Given the description of an element on the screen output the (x, y) to click on. 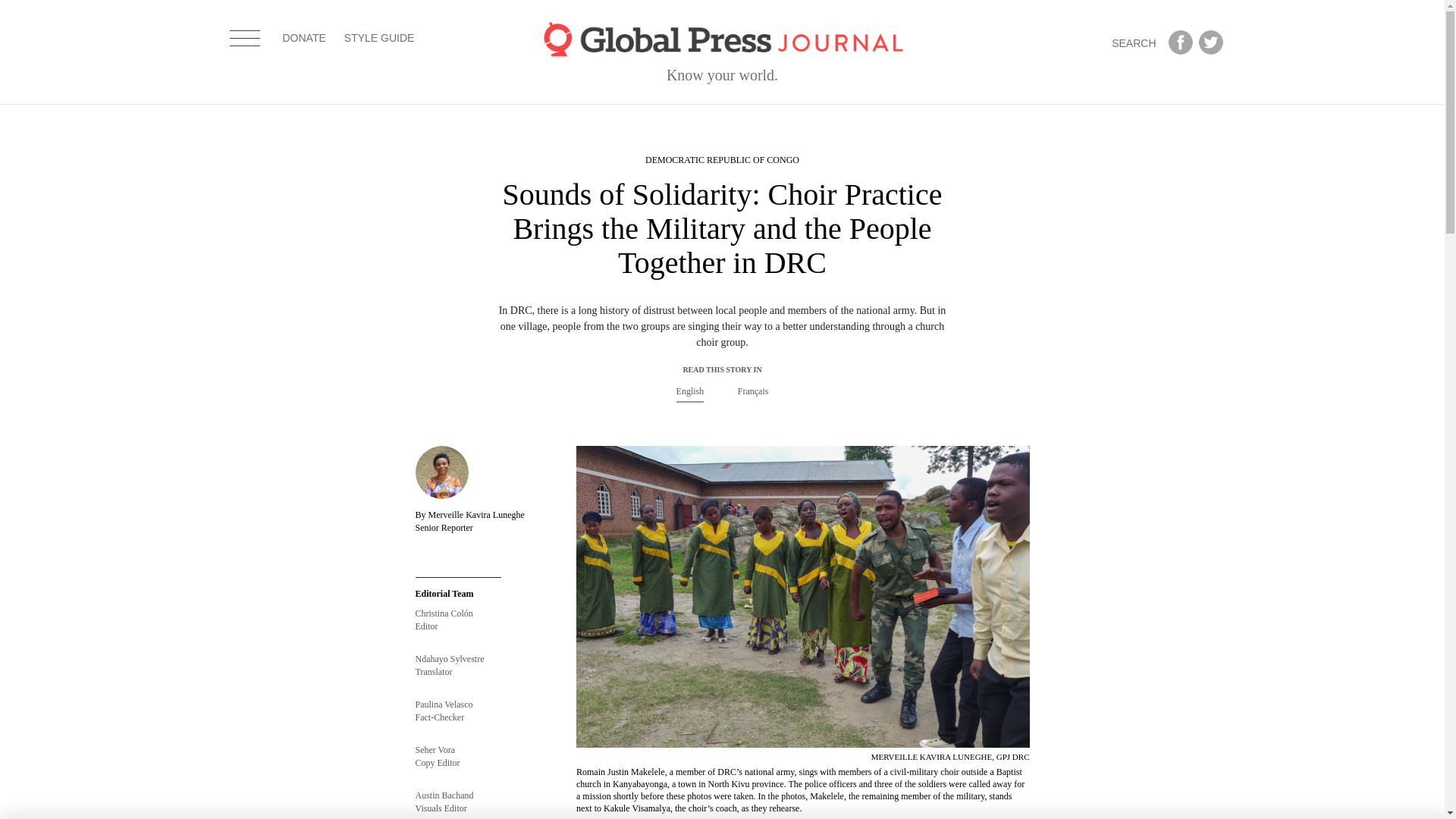
Global Press Journal (722, 38)
Visit our Facebook (1179, 42)
Visit our Twitter (1210, 42)
English (690, 390)
STYLE GUIDE (378, 57)
SEARCH (1136, 42)
